Given the description of an element on the screen output the (x, y) to click on. 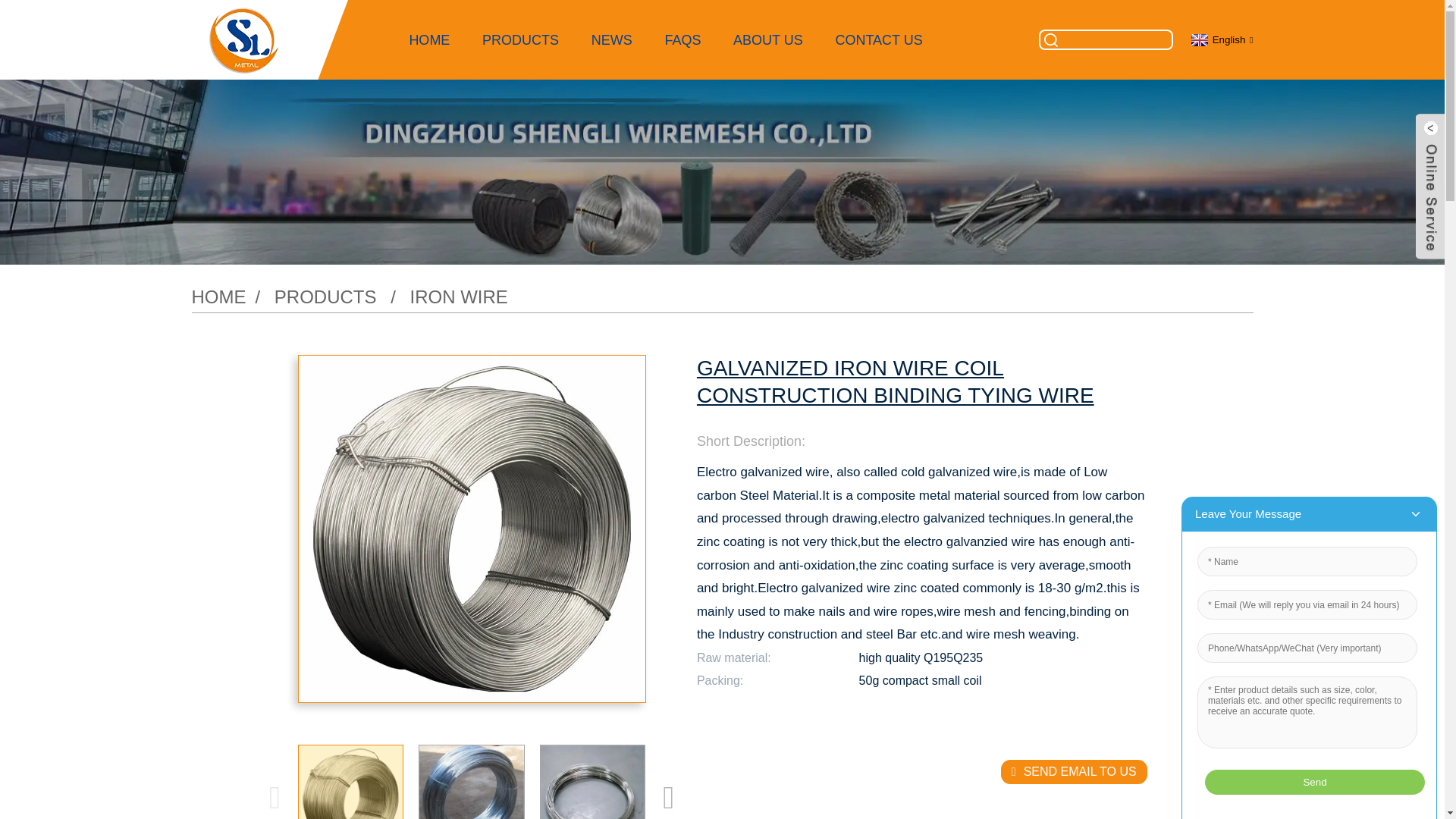
English (1220, 39)
ABOUT US (767, 39)
CONTACT US (878, 39)
FAQS (682, 39)
PRODUCTS (520, 39)
NEWS (611, 39)
HOME (429, 39)
